Given the description of an element on the screen output the (x, y) to click on. 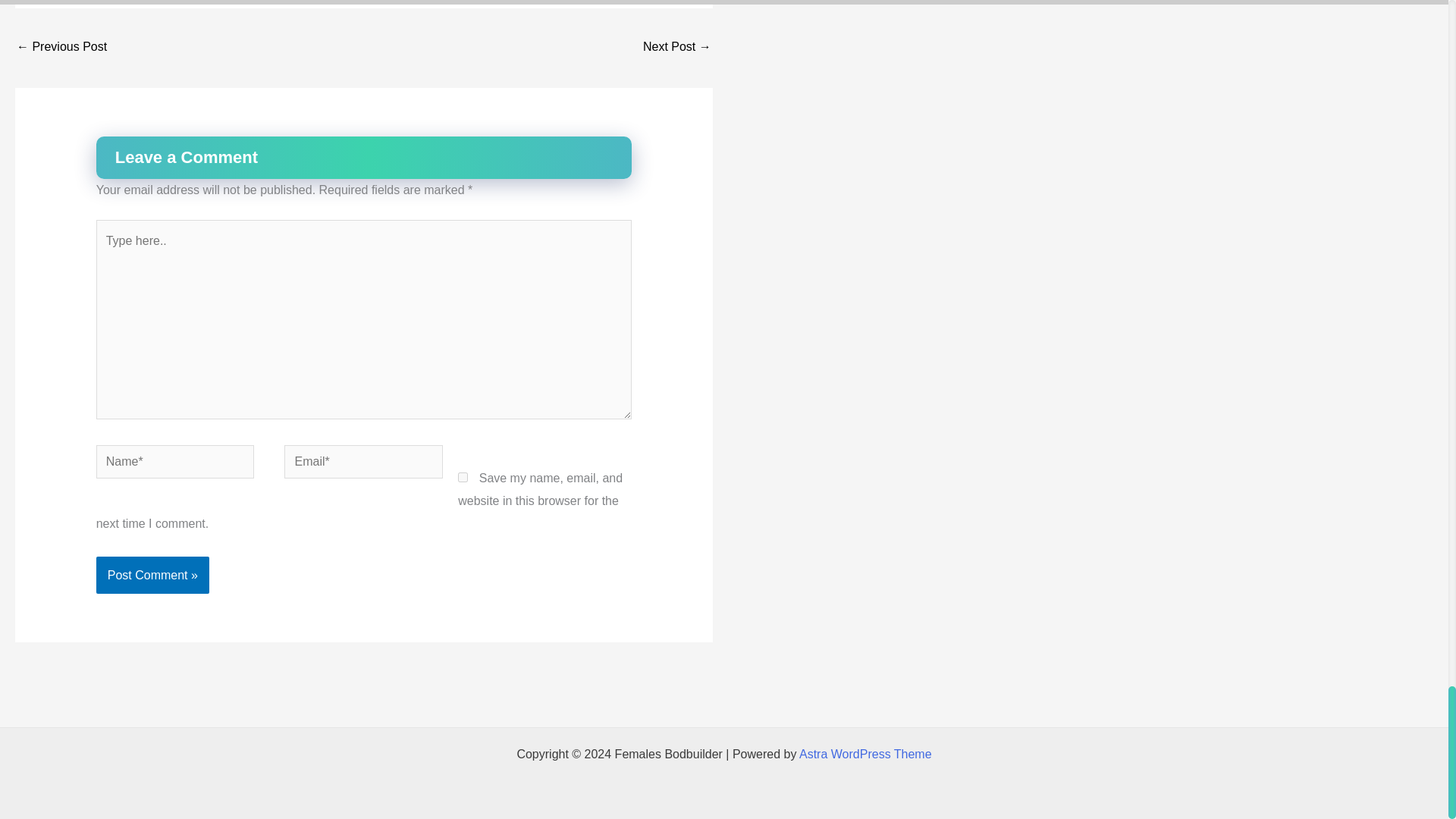
yes (462, 477)
Zafirova Kristina Biography (61, 48)
Emma Tall Biography (677, 48)
